Given the description of an element on the screen output the (x, y) to click on. 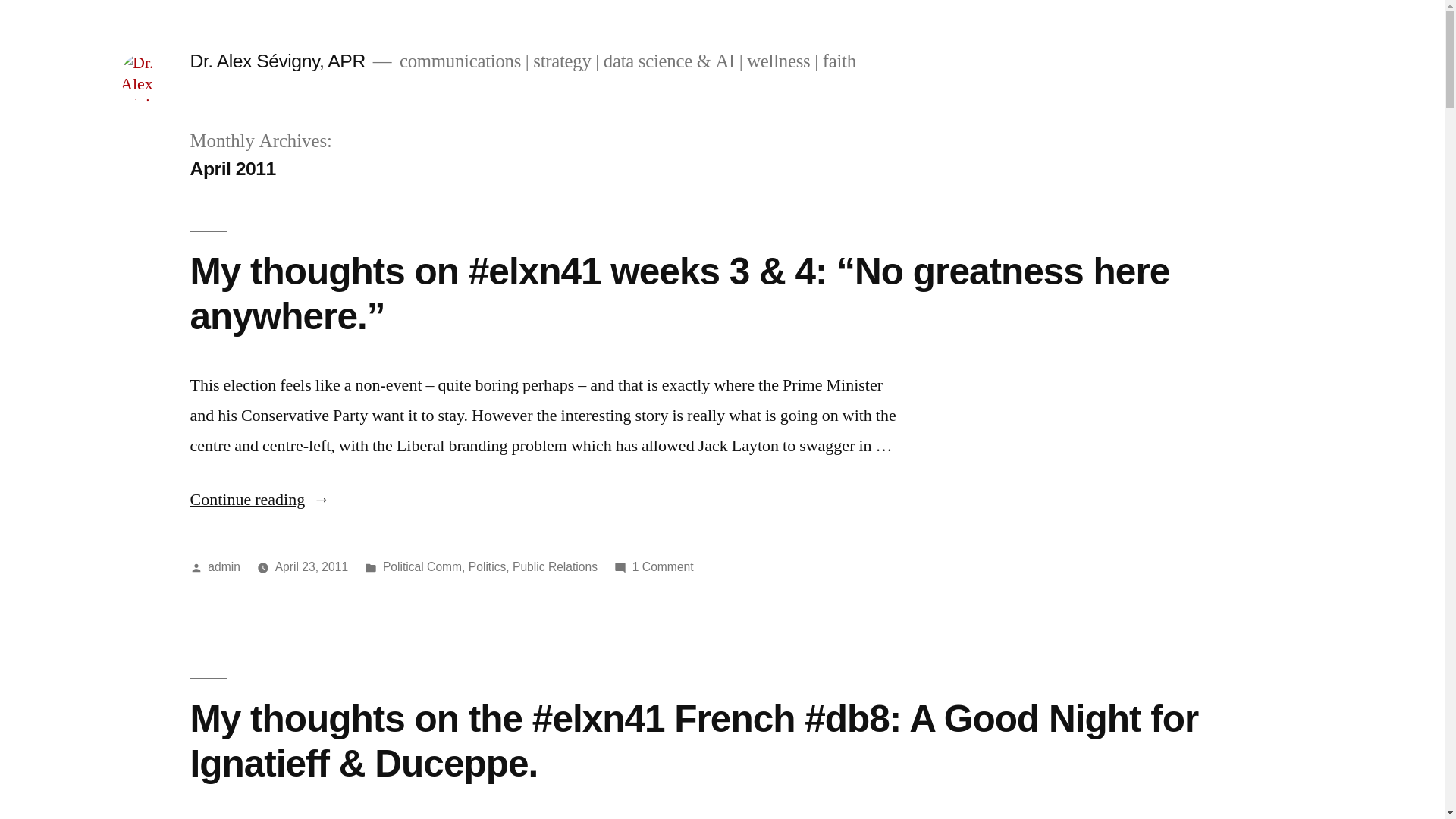
Politics Element type: text (487, 566)
admin Element type: text (223, 566)
April 23, 2011 Element type: text (311, 566)
Public Relations Element type: text (554, 566)
Political Comm Element type: text (421, 566)
